Given the description of an element on the screen output the (x, y) to click on. 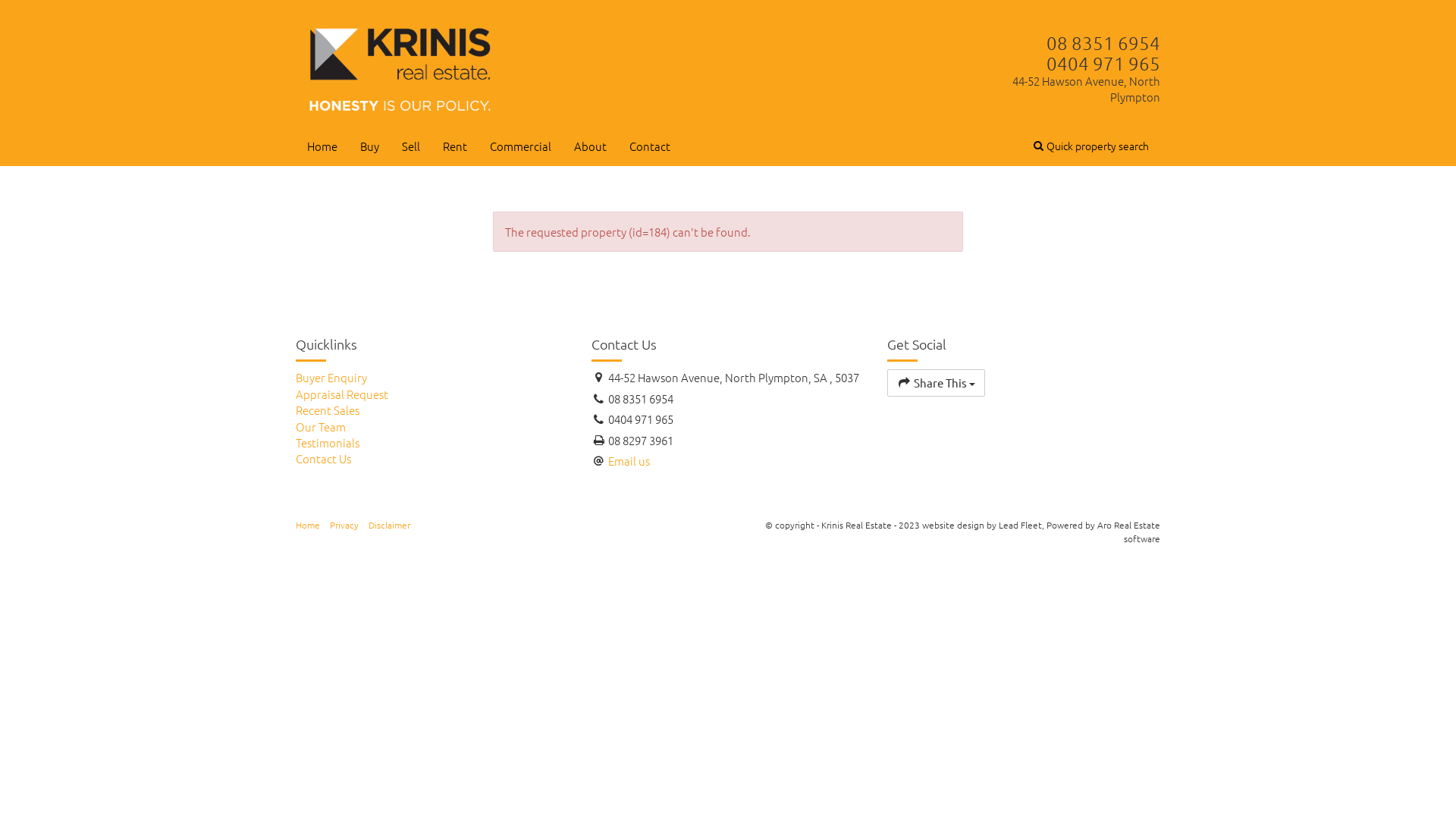
Quick property search Element type: text (1091, 145)
Privacy Element type: text (343, 524)
Contact Us Element type: text (431, 458)
Buy Element type: text (369, 145)
Sell Element type: text (410, 145)
Our Team Element type: text (431, 426)
Lead Fleet Element type: text (1019, 524)
Share This Element type: text (936, 382)
Home Element type: text (307, 524)
Recent Sales Element type: text (431, 409)
Disclaimer Element type: text (389, 524)
Buyer Enquiry Element type: text (431, 377)
Rent Element type: text (454, 145)
Testimonials Element type: text (431, 442)
Email us Element type: text (628, 460)
Krinis Real Estate Element type: hover (401, 67)
Commercial Element type: text (520, 145)
Aro Real Estate software Element type: text (1128, 530)
Contact Element type: text (649, 145)
Appraisal Request Element type: text (431, 393)
Home Element type: text (321, 145)
About Element type: text (590, 145)
